Given the description of an element on the screen output the (x, y) to click on. 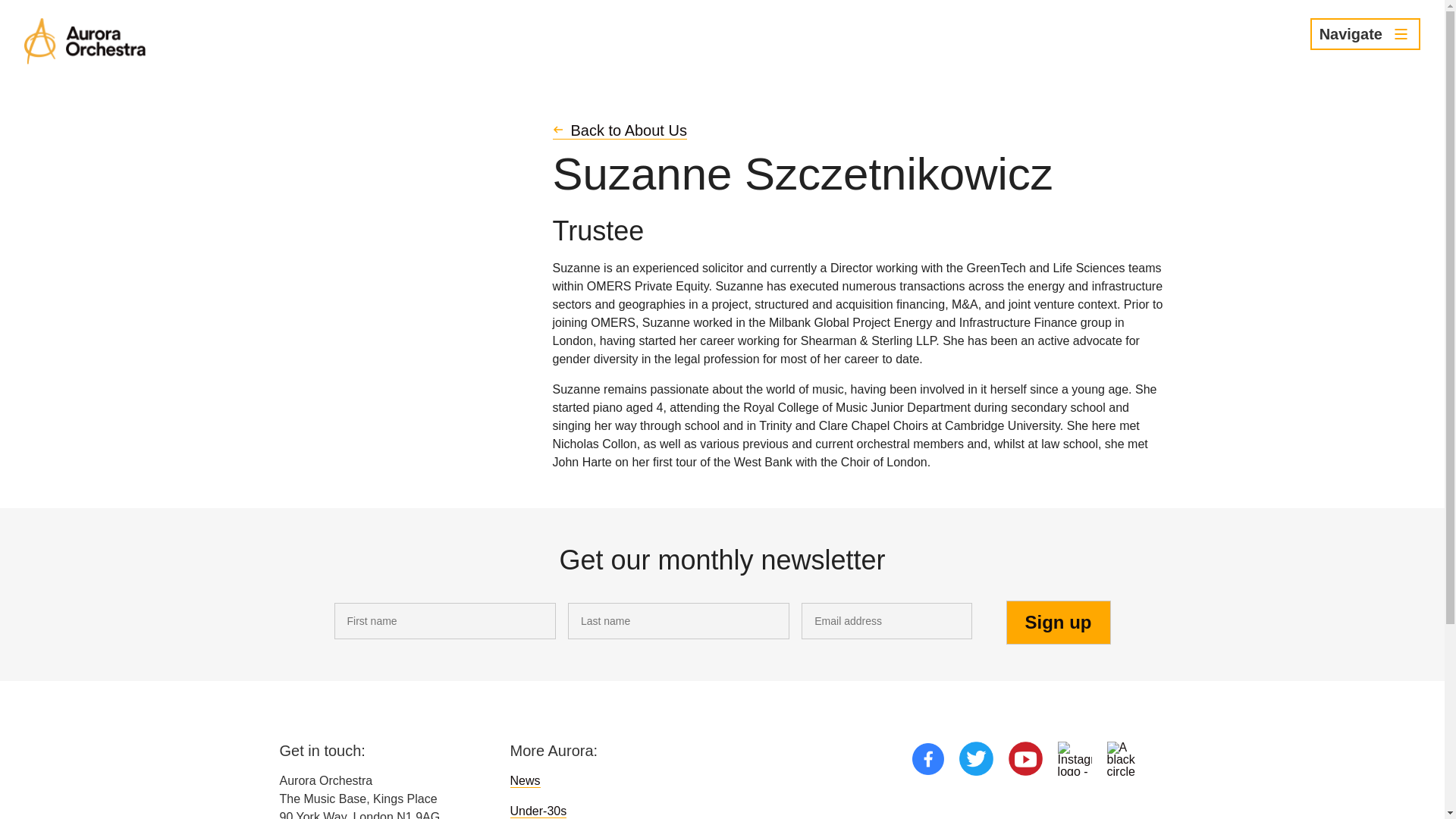
Navigate (1365, 33)
News (524, 780)
Under-30s (537, 811)
Sign up (1058, 622)
Sign up (1058, 622)
Back to About Us (618, 130)
